Given the description of an element on the screen output the (x, y) to click on. 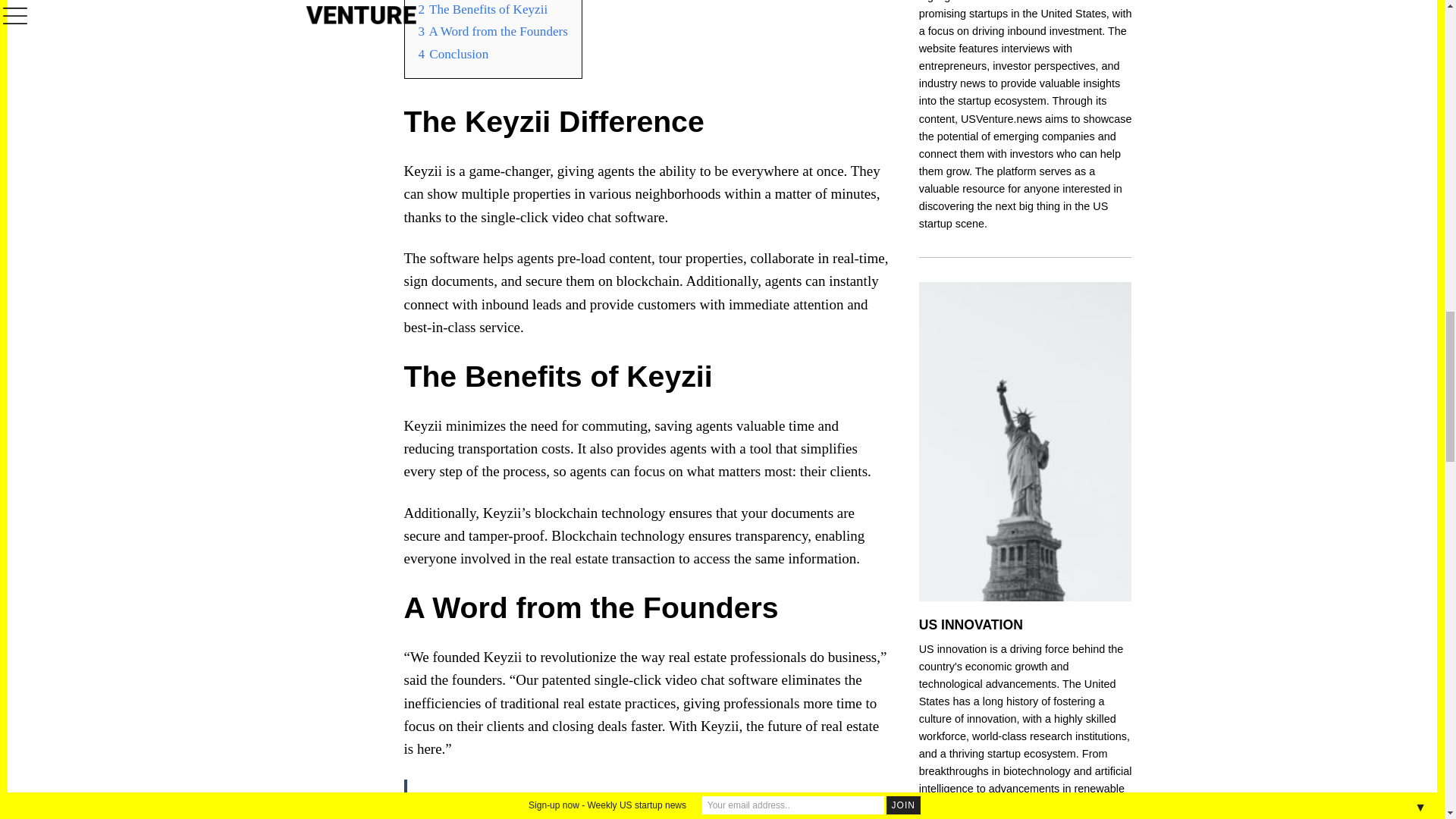
3 A Word from the Founders (493, 31)
2 The Benefits of Keyzii (483, 9)
4 Conclusion (454, 53)
